Given the description of an element on the screen output the (x, y) to click on. 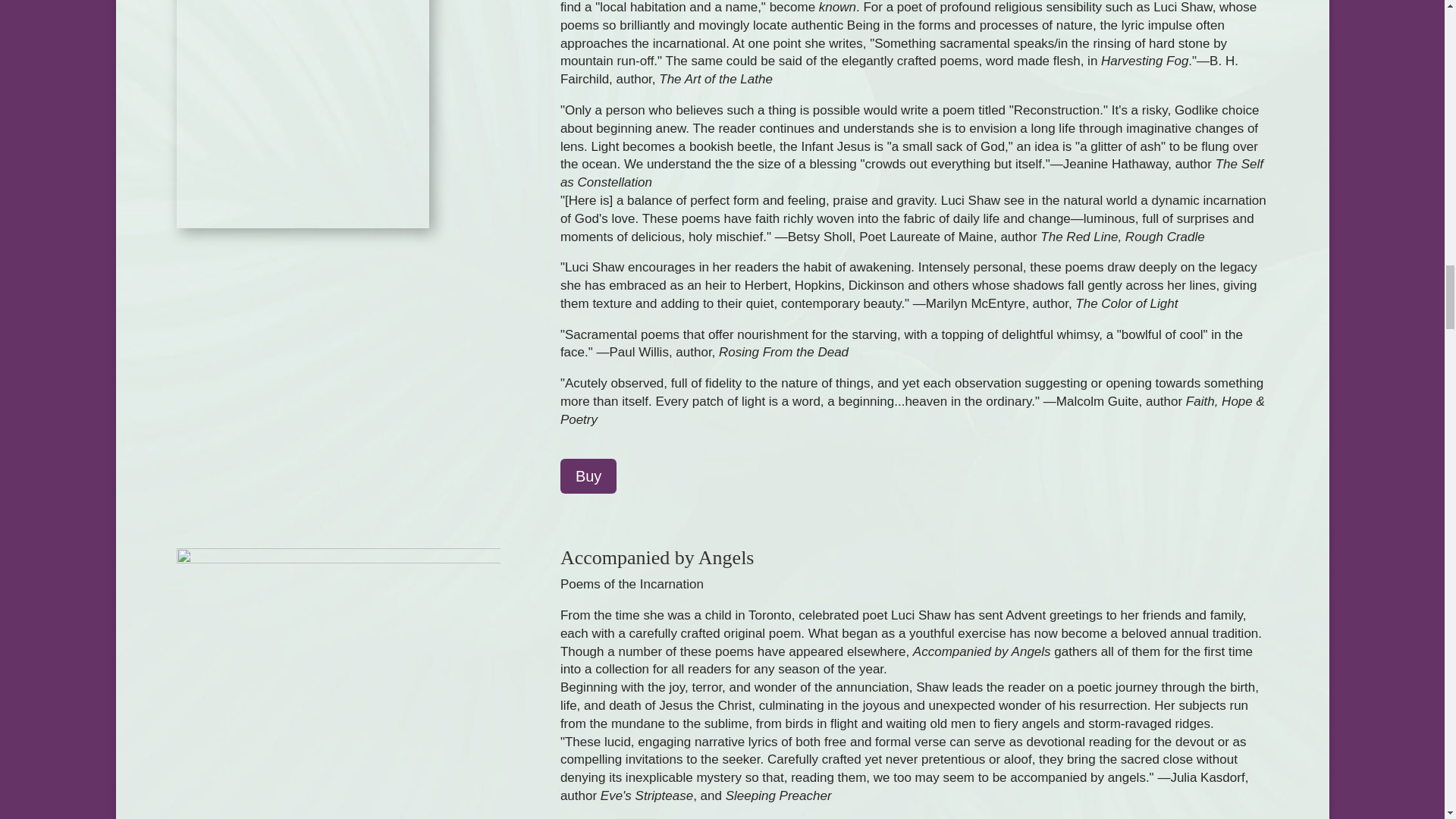
accompanied-by-angels (337, 683)
Buy (587, 475)
harvesting-fog (302, 114)
